Given the description of an element on the screen output the (x, y) to click on. 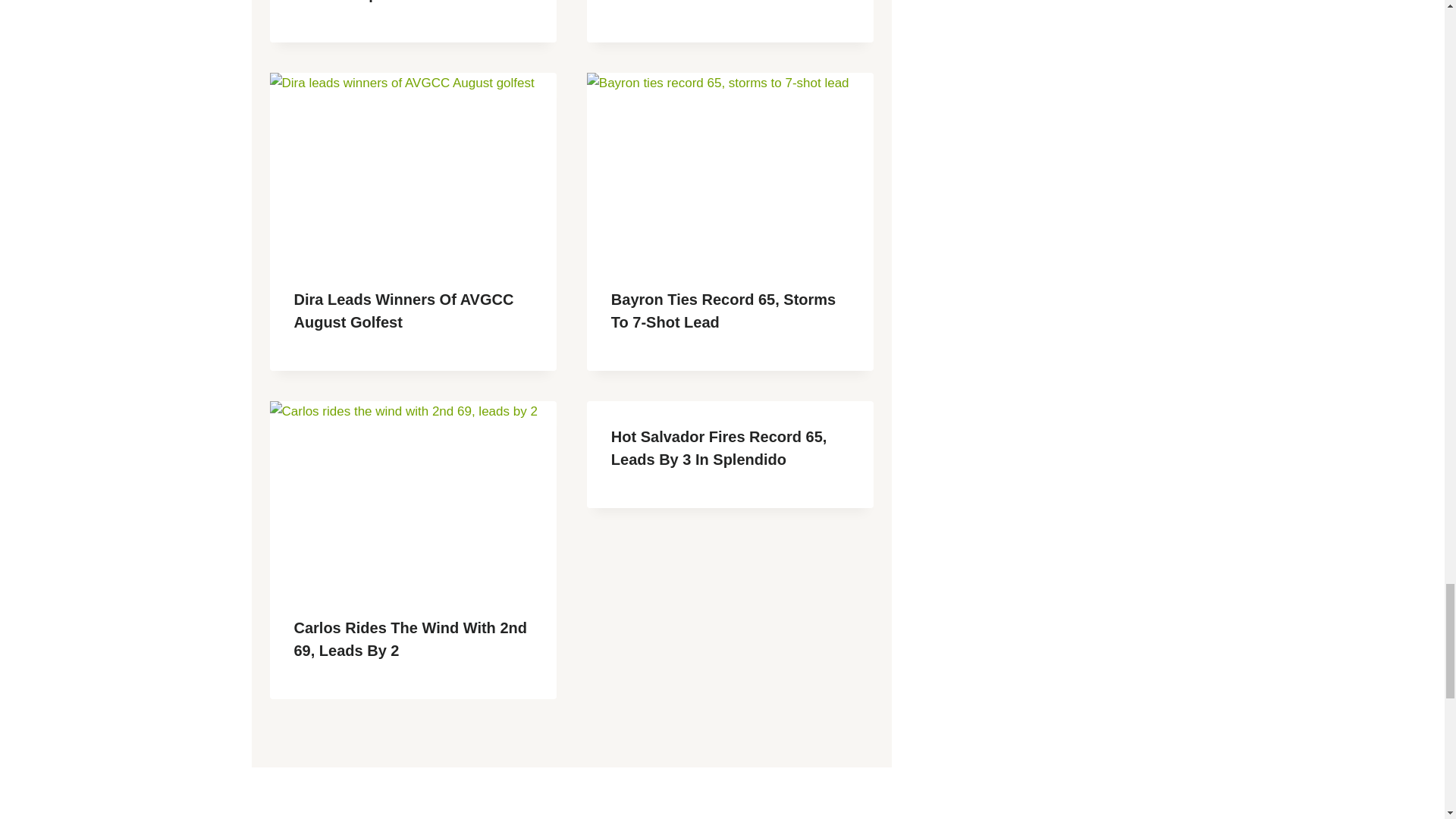
Dira Leads Winners Of AVGCC August Golfest (403, 310)
Bayron Ties Record 65, Storms To 7-Shot Lead (723, 310)
